Given the description of an element on the screen output the (x, y) to click on. 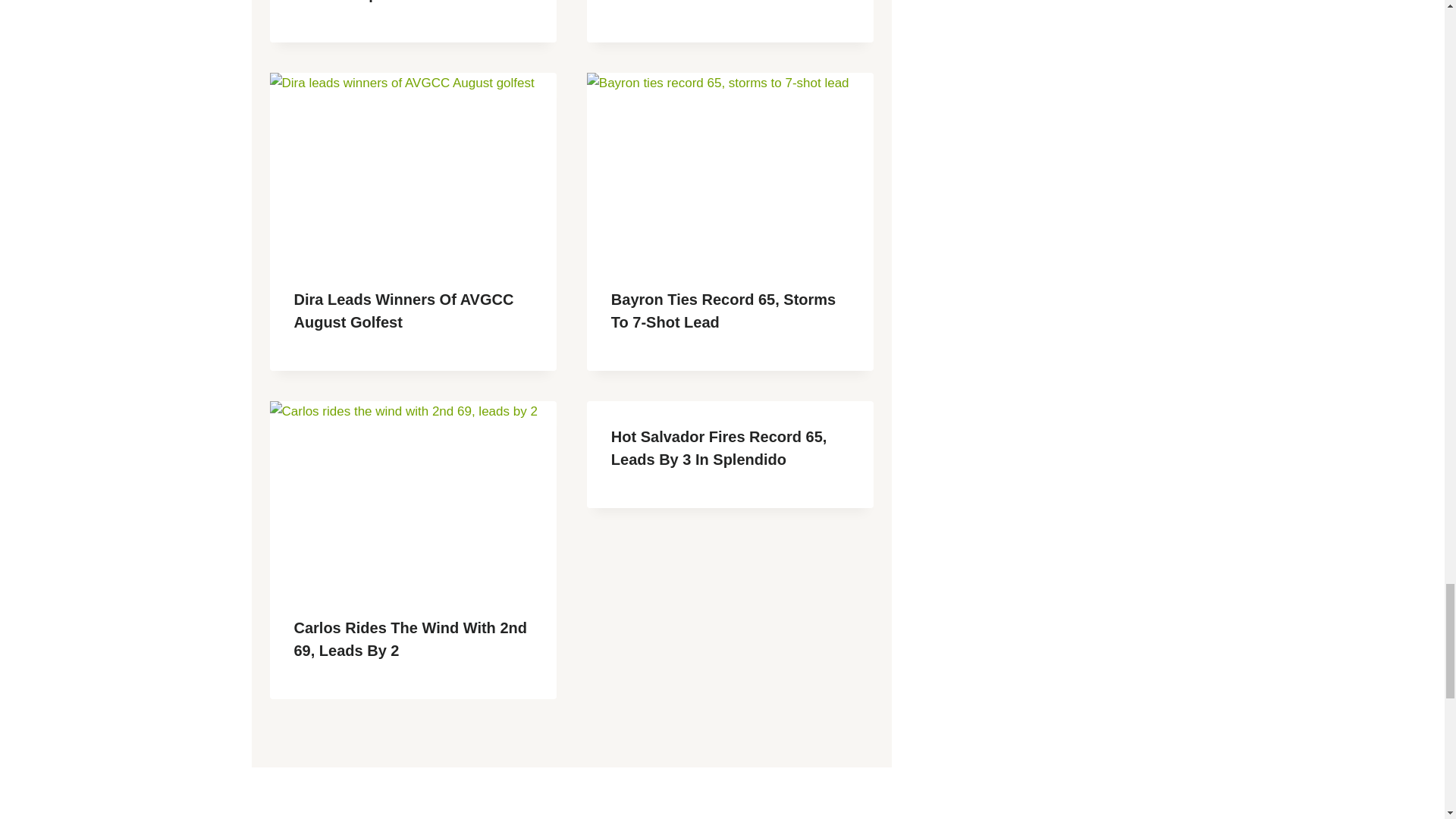
Dira Leads Winners Of AVGCC August Golfest (403, 310)
Bayron Ties Record 65, Storms To 7-Shot Lead (723, 310)
